Given the description of an element on the screen output the (x, y) to click on. 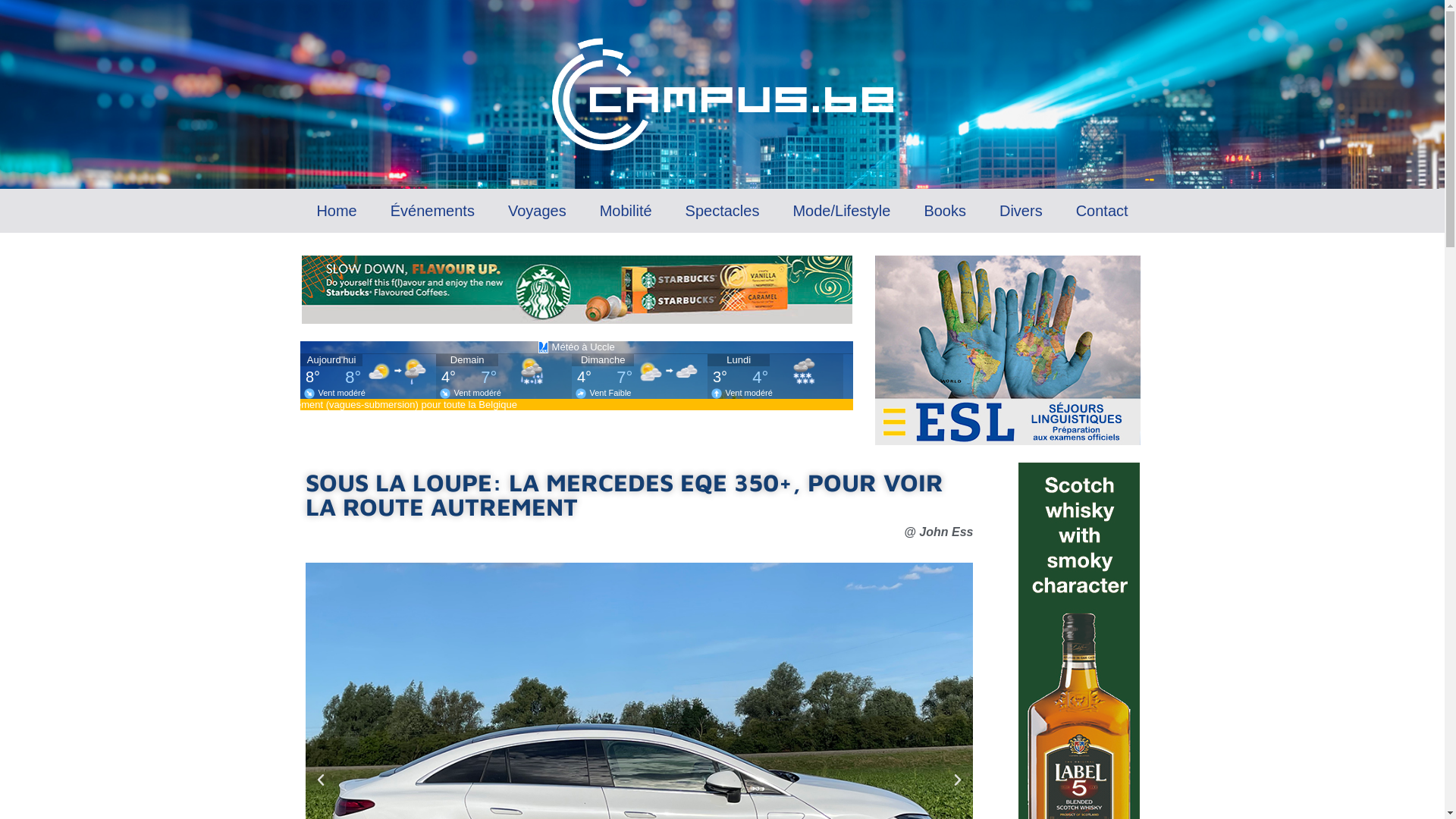
Books Element type: text (944, 210)
Spectacles Element type: text (722, 210)
Home Element type: text (336, 210)
Divers Element type: text (1020, 210)
Contact Element type: text (1102, 210)
Mode/Lifestyle Element type: text (840, 210)
Voyages Element type: text (537, 210)
